Given the description of an element on the screen output the (x, y) to click on. 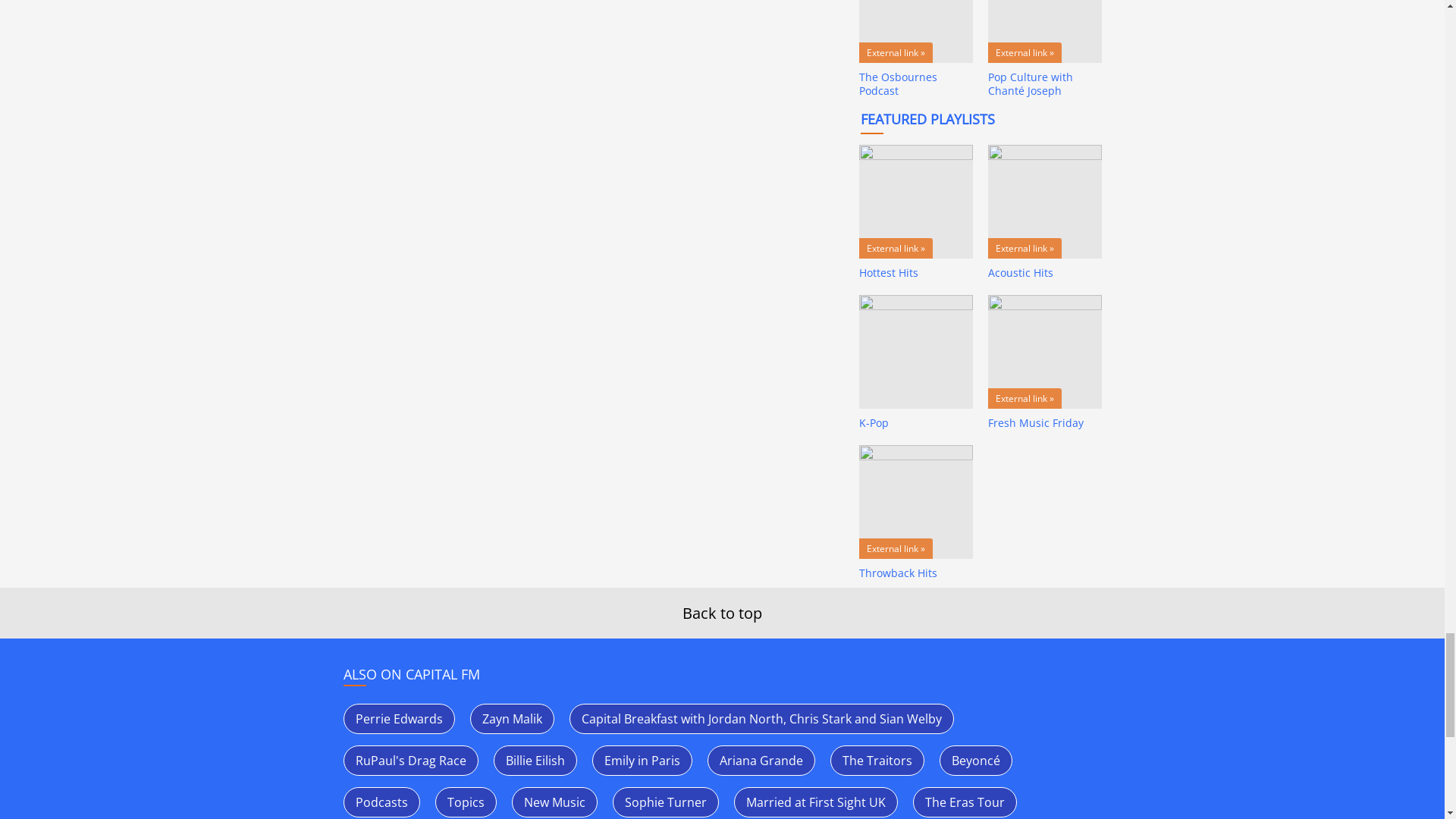
Back to top (721, 612)
